Given the description of an element on the screen output the (x, y) to click on. 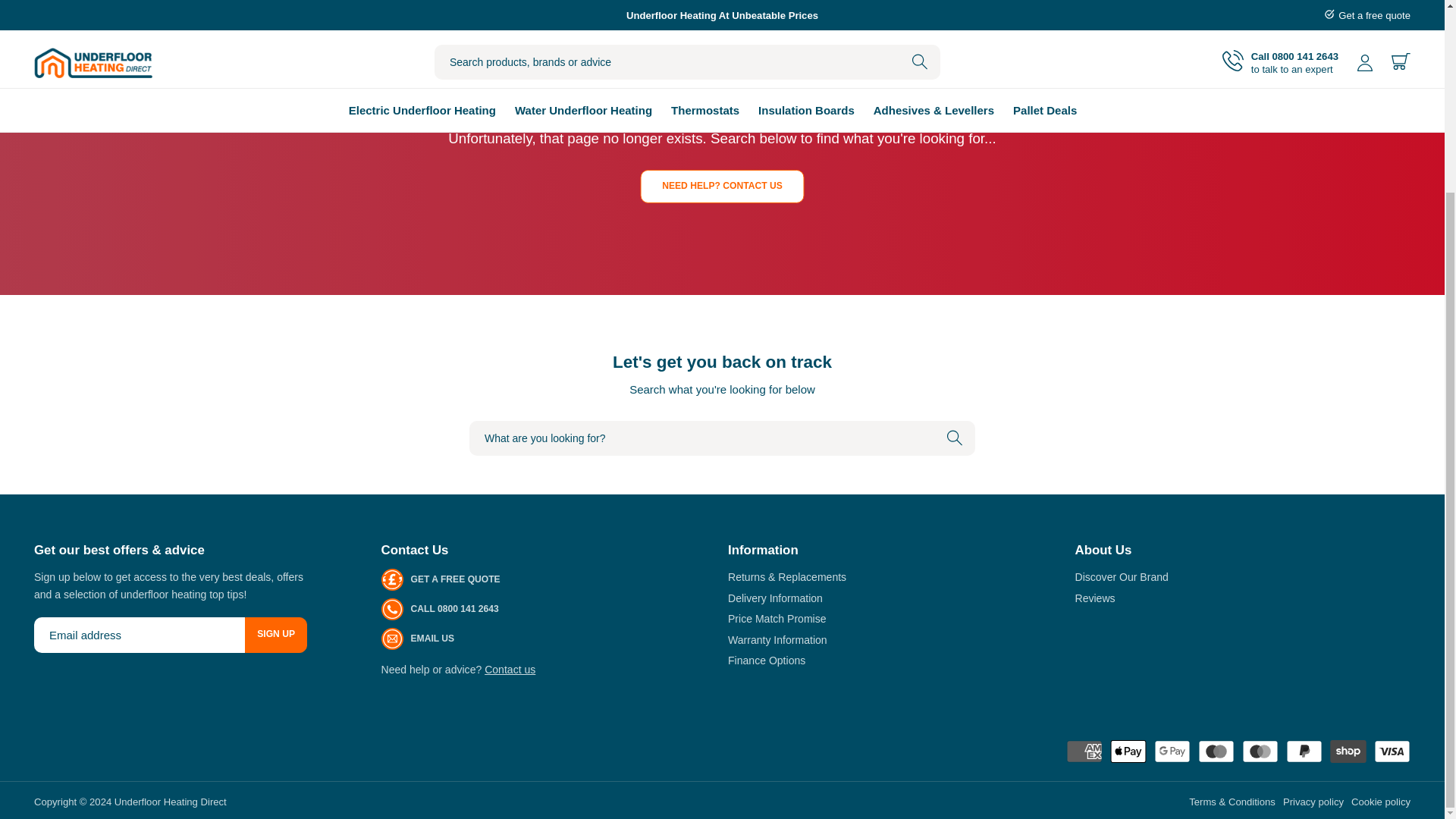
Apple Pay (1128, 751)
Google Pay (1172, 751)
Maestro (1216, 751)
American Express (1083, 751)
Contact Us (509, 669)
PayPal (1303, 751)
Mastercard (1259, 751)
Shop Pay (1348, 751)
